Given the description of an element on the screen output the (x, y) to click on. 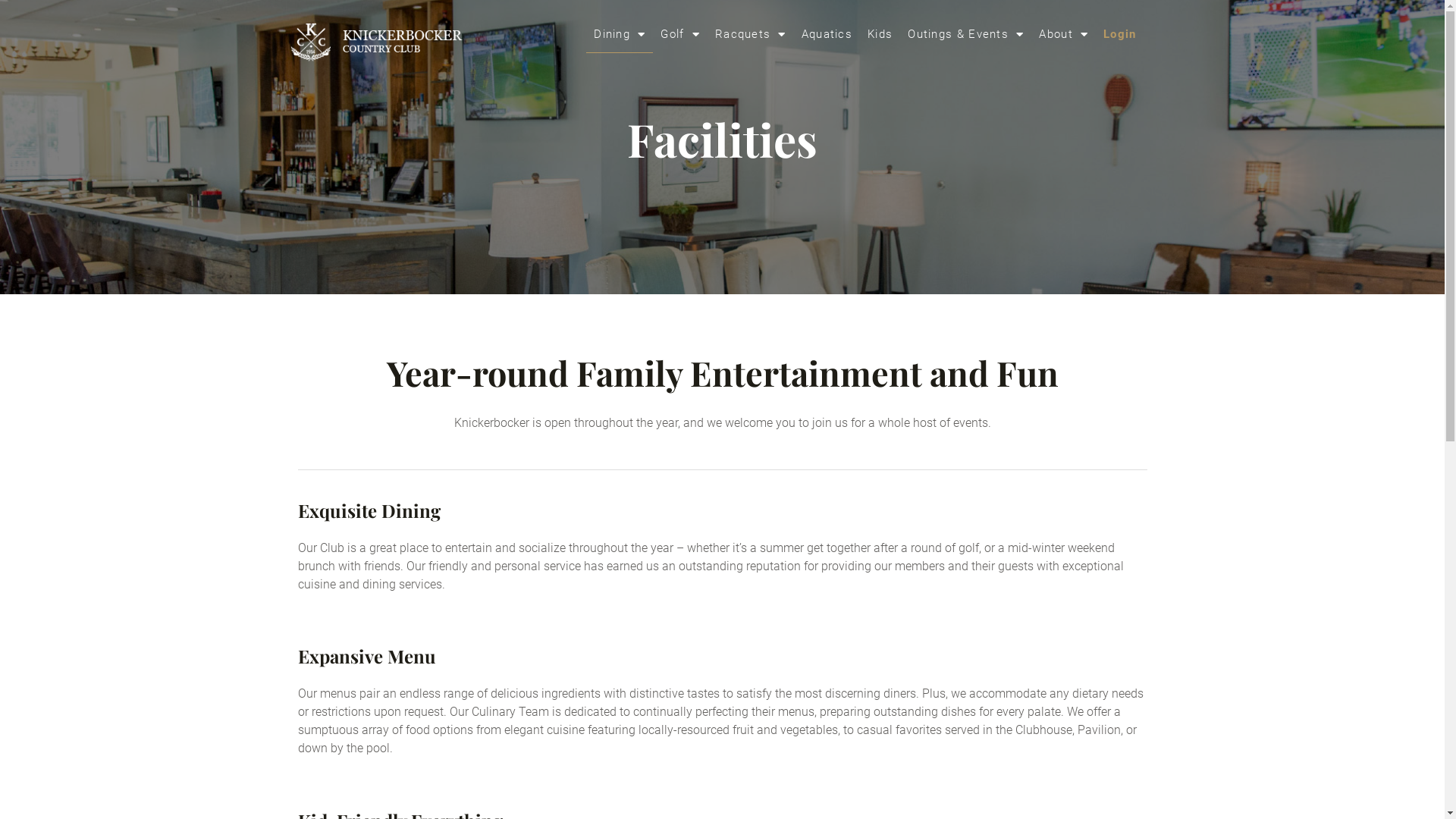
Aquatics Element type: text (826, 34)
Login Element type: text (1119, 34)
Dining Element type: text (619, 34)
Golf Element type: text (679, 34)
Outings & Events Element type: text (965, 34)
About Element type: text (1063, 34)
Racquets Element type: text (750, 34)
Kids Element type: text (879, 34)
